Given the description of an element on the screen output the (x, y) to click on. 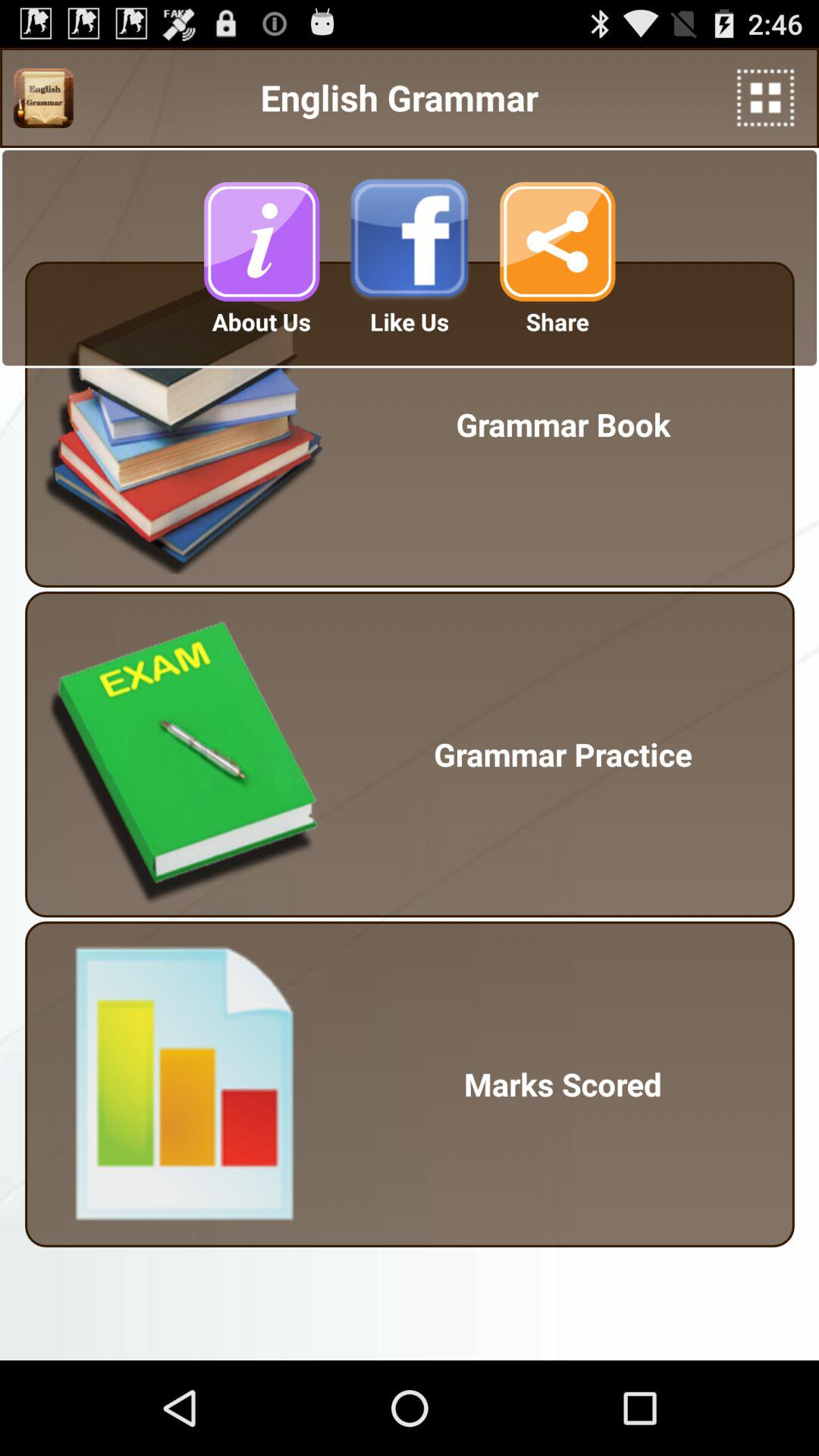
turn off the item below english grammar item (261, 241)
